Given the description of an element on the screen output the (x, y) to click on. 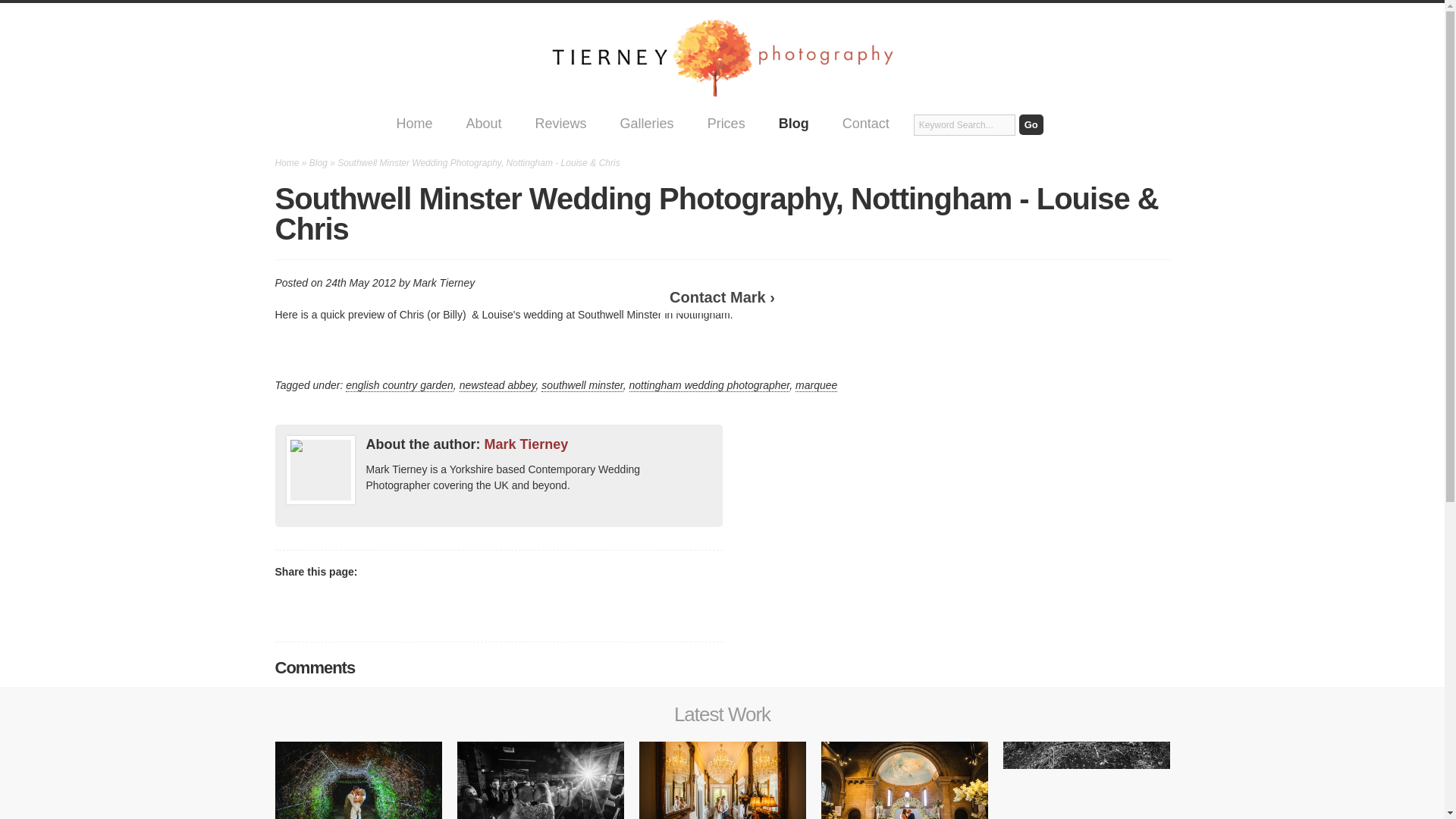
english country garden (399, 385)
newstead abbey (497, 385)
nottingham wedding photographer (709, 385)
Go (1031, 123)
UK Wedding Photographer - Tierney Photography (722, 55)
Home (414, 123)
Prices (726, 123)
southwell minster (582, 385)
About (484, 123)
Reviews (560, 123)
